Given the description of an element on the screen output the (x, y) to click on. 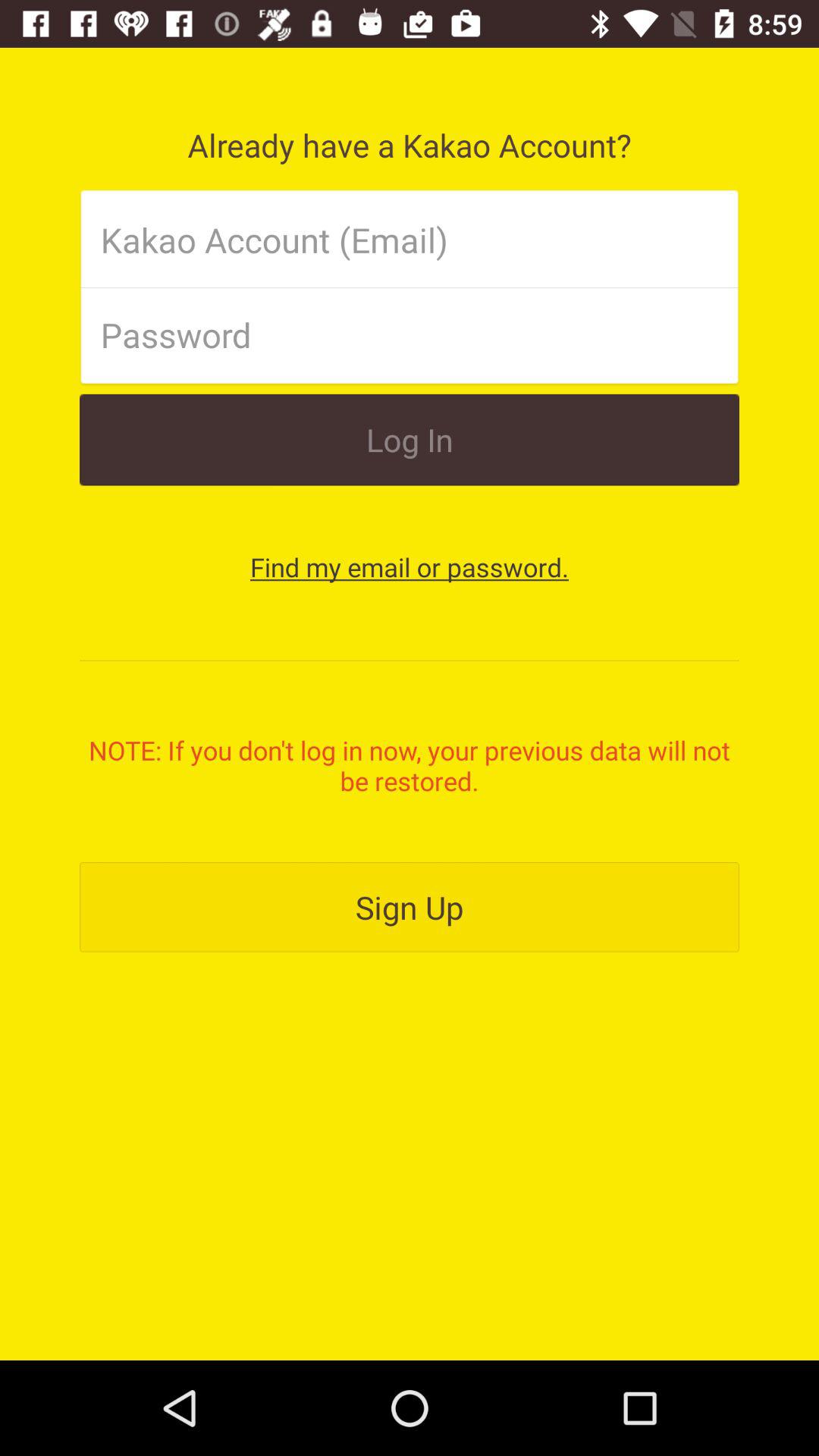
scroll until the find my email (409, 566)
